Given the description of an element on the screen output the (x, y) to click on. 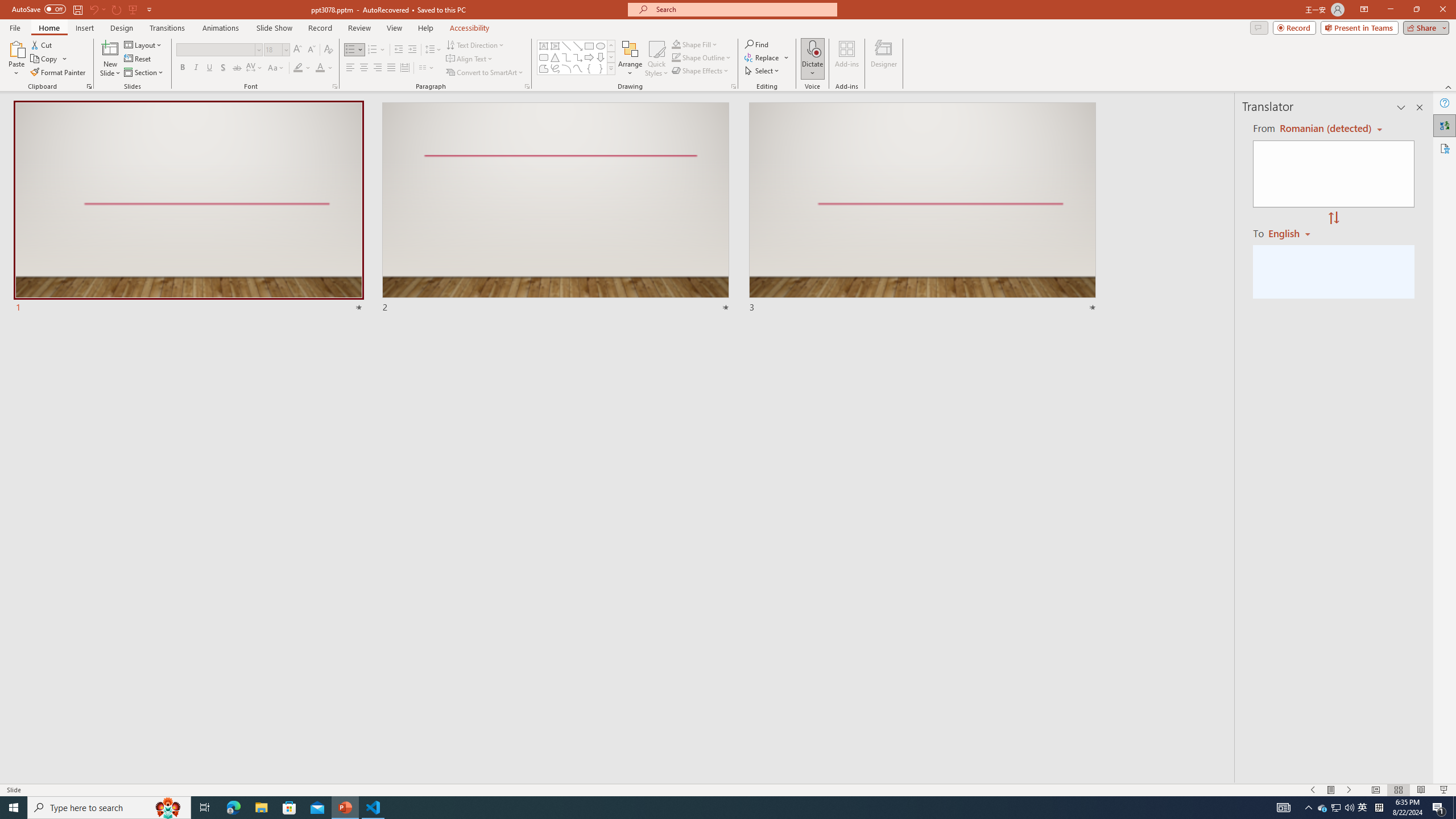
Shape Outline Green, Accent 1 (675, 56)
